Given the description of an element on the screen output the (x, y) to click on. 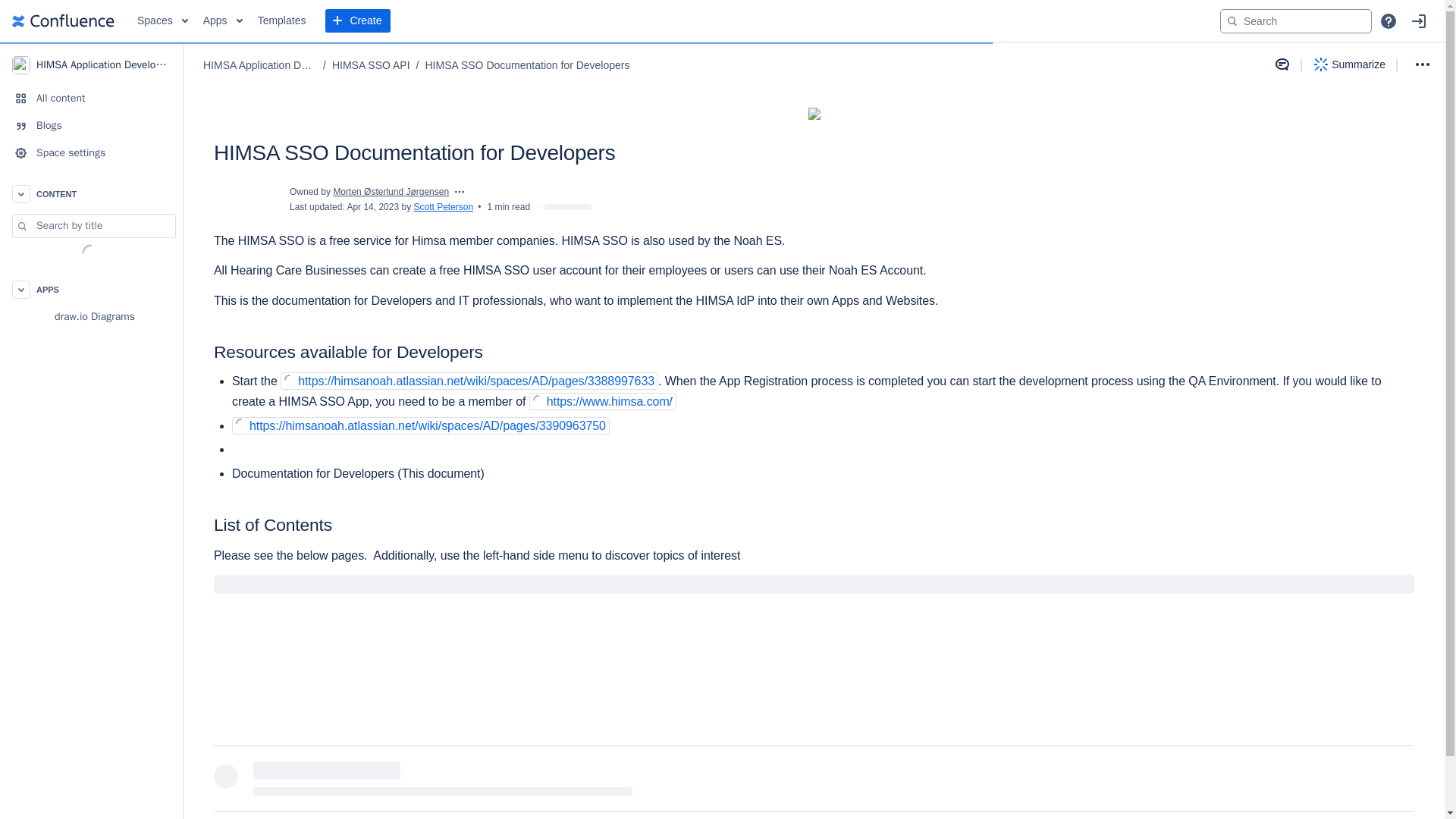
Space settings (90, 153)
Apps (222, 21)
Blogs (90, 125)
All content (90, 98)
Scott Peterson (443, 206)
APPS (90, 289)
Apr 14, 2023 (372, 206)
CONTENT (90, 194)
Templates (282, 21)
Summarize (1349, 64)
Create (357, 21)
Spaces (162, 21)
HIMSA SSO API (370, 64)
HIMSA Application Development (90, 64)
HIMSA Application Development (260, 64)
